Given the description of an element on the screen output the (x, y) to click on. 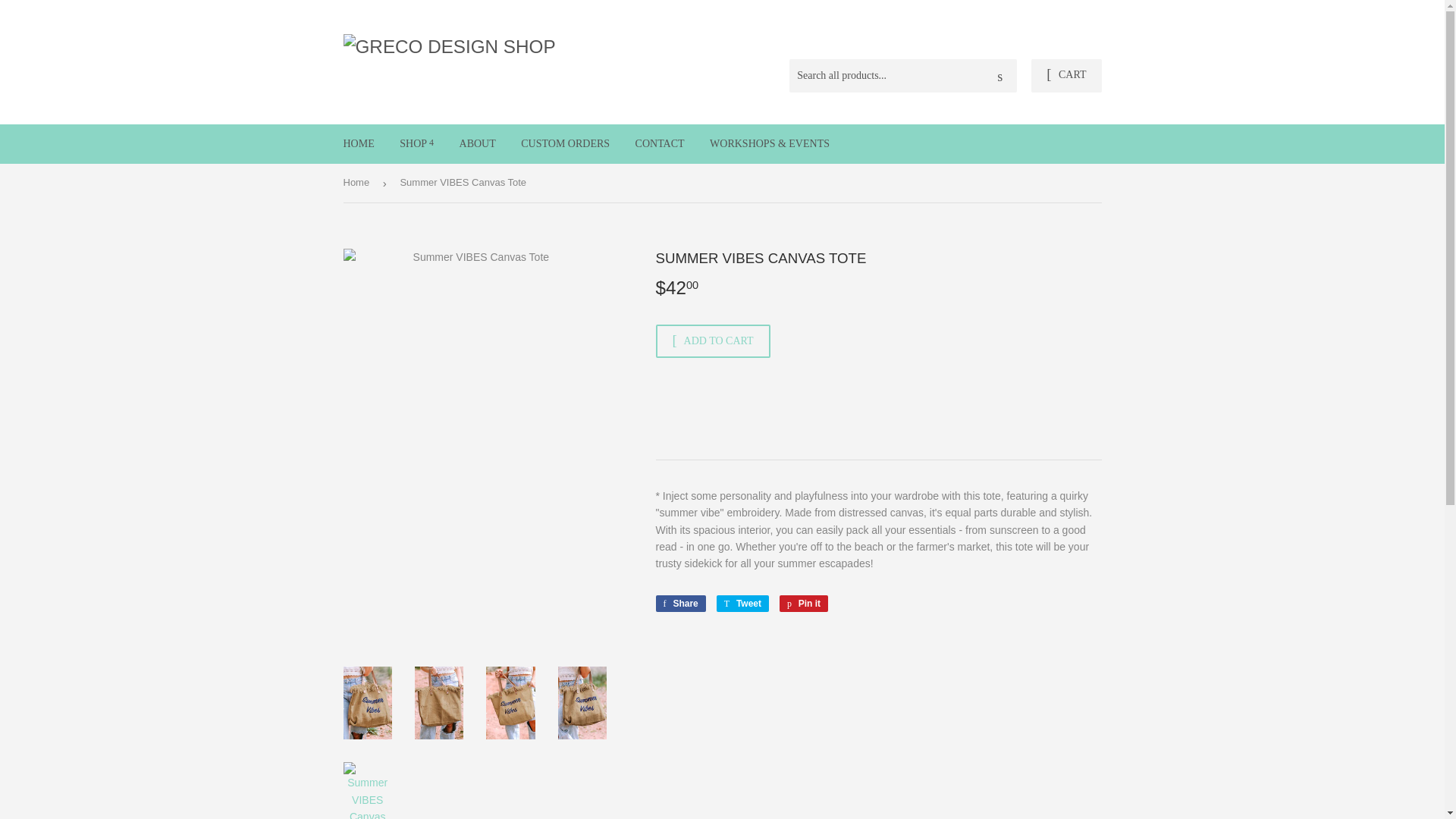
Share on Facebook (679, 603)
CONTACT (659, 143)
ABOUT (477, 143)
HOME (358, 143)
SHOP (416, 143)
Search (999, 76)
CART (1065, 75)
CUSTOM ORDERS (565, 143)
Tweet on Twitter (742, 603)
Pin on Pinterest (803, 603)
